Given the description of an element on the screen output the (x, y) to click on. 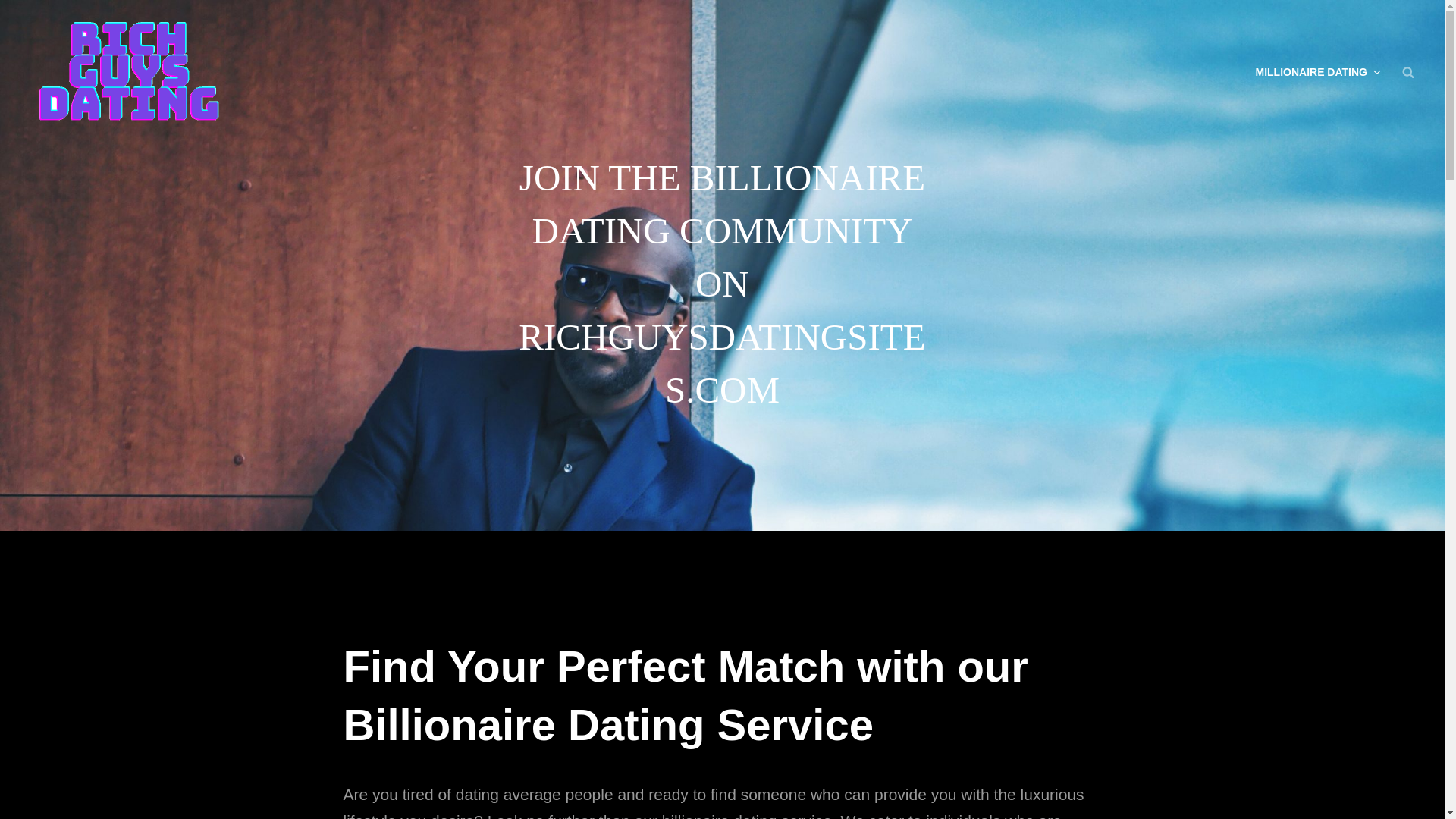
RICHGUYSDATINGSITES.COM (380, 83)
MILLIONAIRE DATING (1317, 71)
Search (1408, 71)
